Given the description of an element on the screen output the (x, y) to click on. 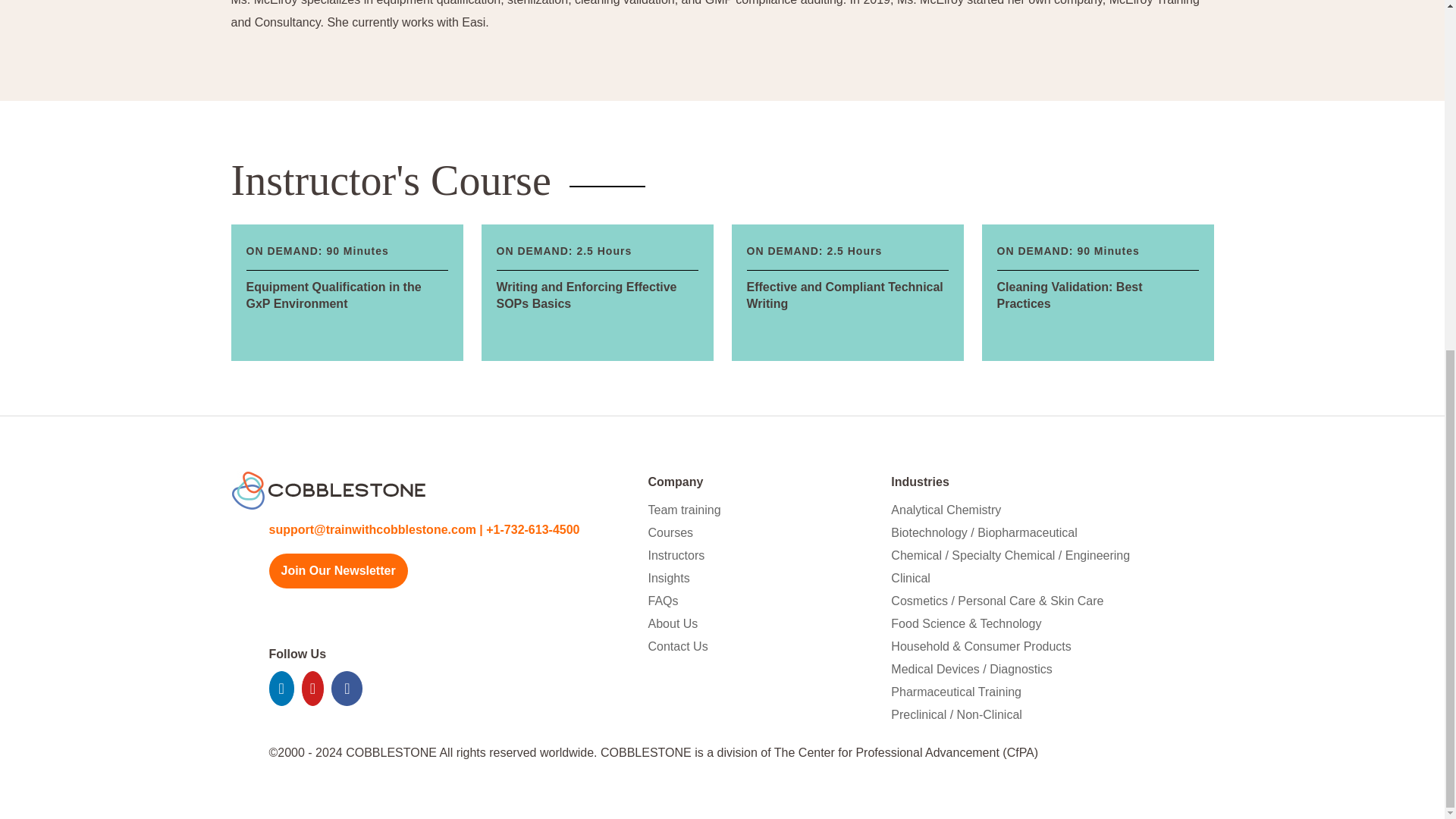
Clinical (910, 577)
About Us (672, 623)
Insights (1096, 292)
Instructors (668, 577)
Team training (675, 554)
Join Our Newsletter (683, 509)
